Given the description of an element on the screen output the (x, y) to click on. 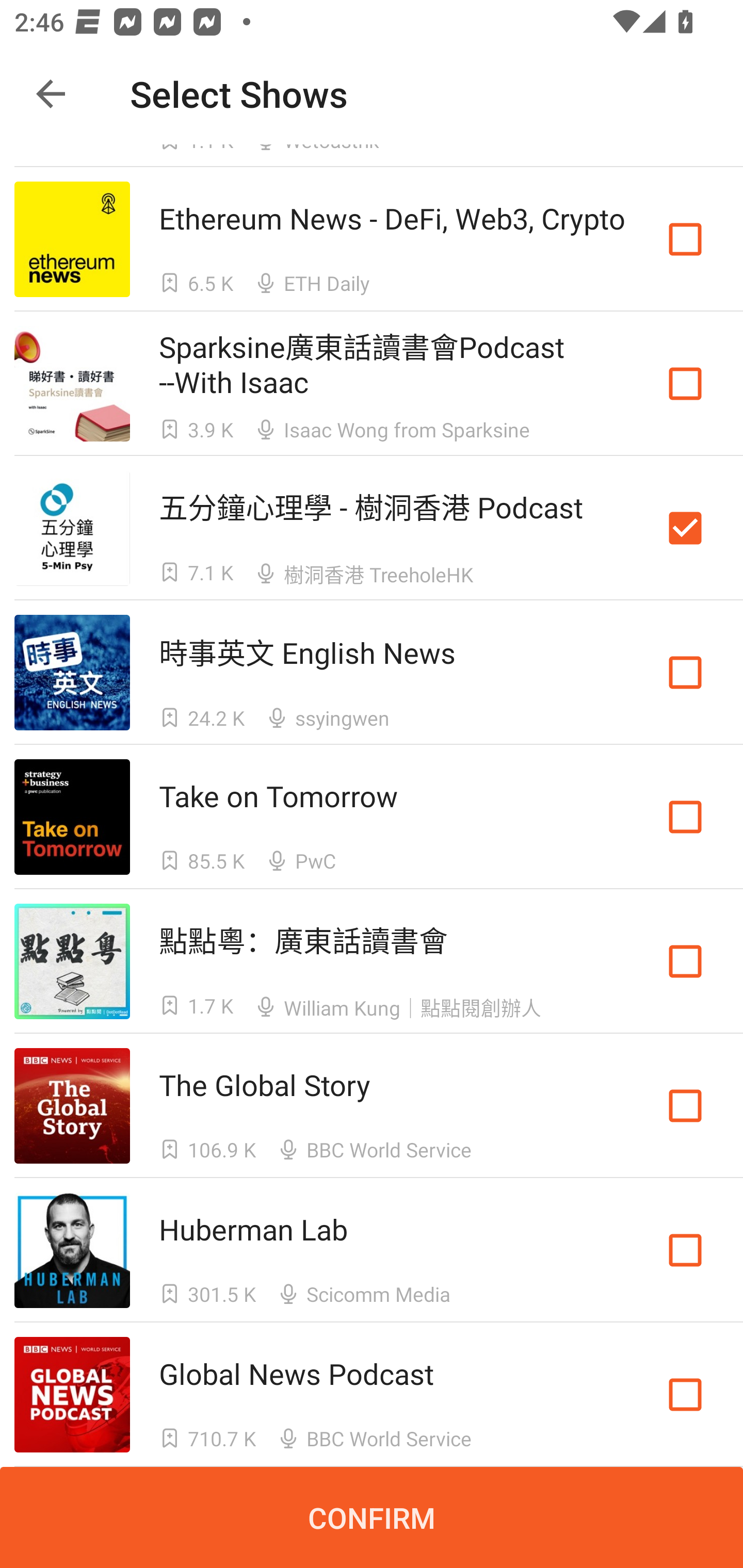
Navigate up (50, 93)
Take on Tomorrow Take on Tomorrow  85.5 K  PwC (371, 816)
CONFIRM (371, 1517)
